Given the description of an element on the screen output the (x, y) to click on. 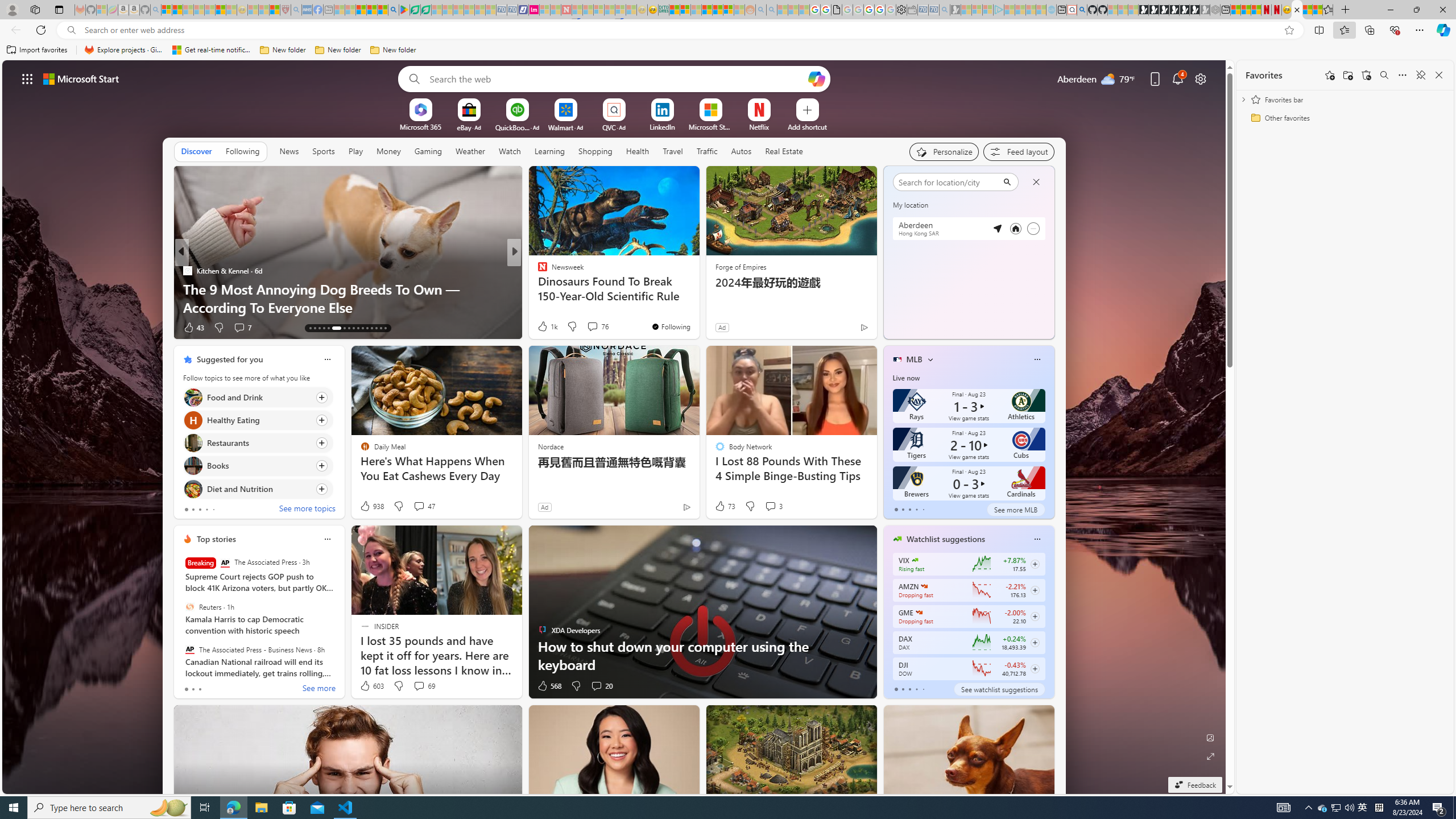
GAMESTOP CORP. (919, 612)
AutomationID: tab-17 (328, 328)
AutomationID: tab-21 (353, 328)
AutomationID: tab-18 (332, 328)
tab-0 (895, 689)
